Given the description of an element on the screen output the (x, y) to click on. 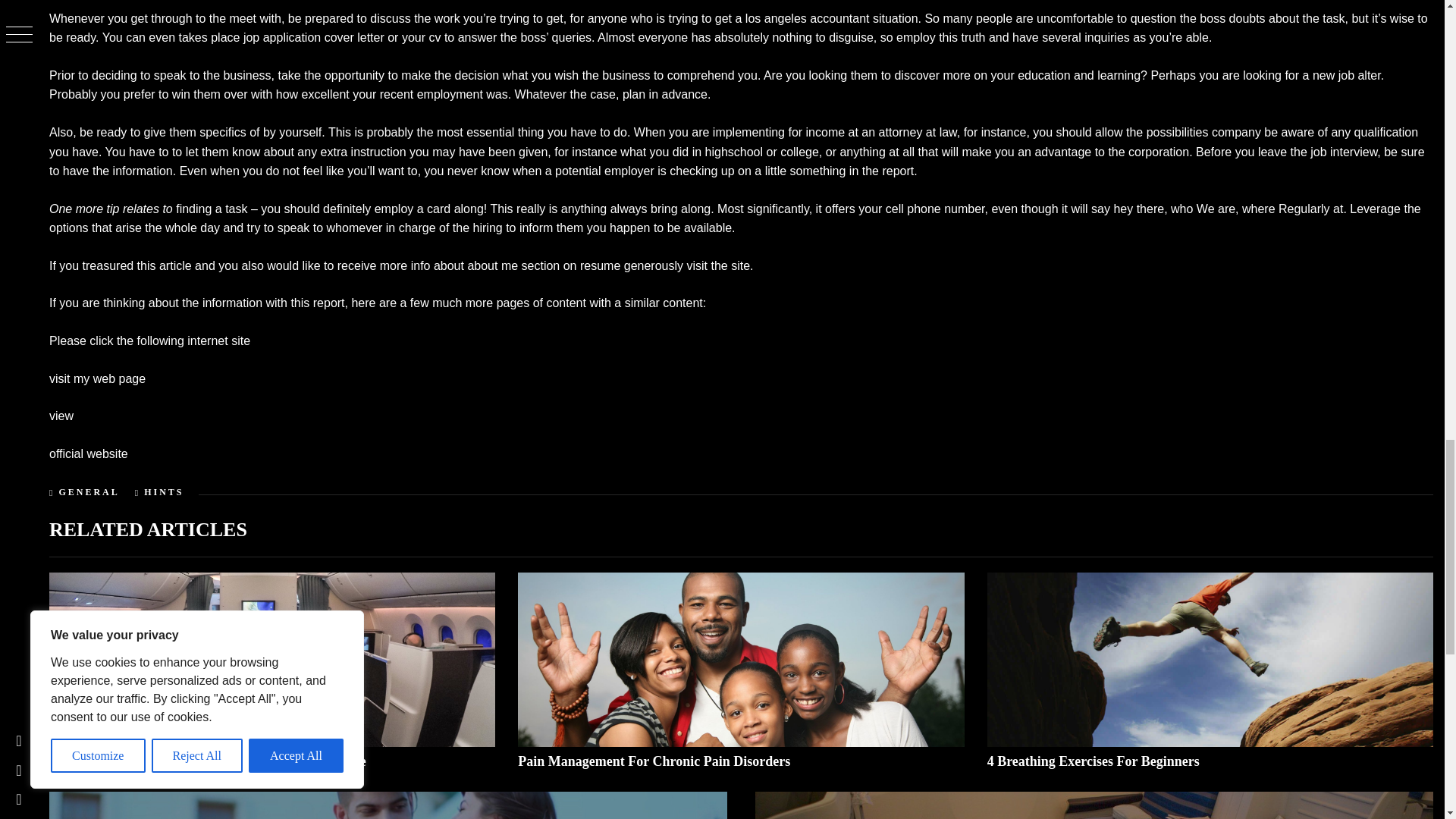
Please click the following internet site (149, 340)
Select Your Footwear For Both Comfort And Elegance (207, 761)
GENERAL (88, 491)
visit my web page (97, 378)
official website (88, 453)
HINTS (163, 491)
about me section on resume (543, 265)
view (61, 415)
